Given the description of an element on the screen output the (x, y) to click on. 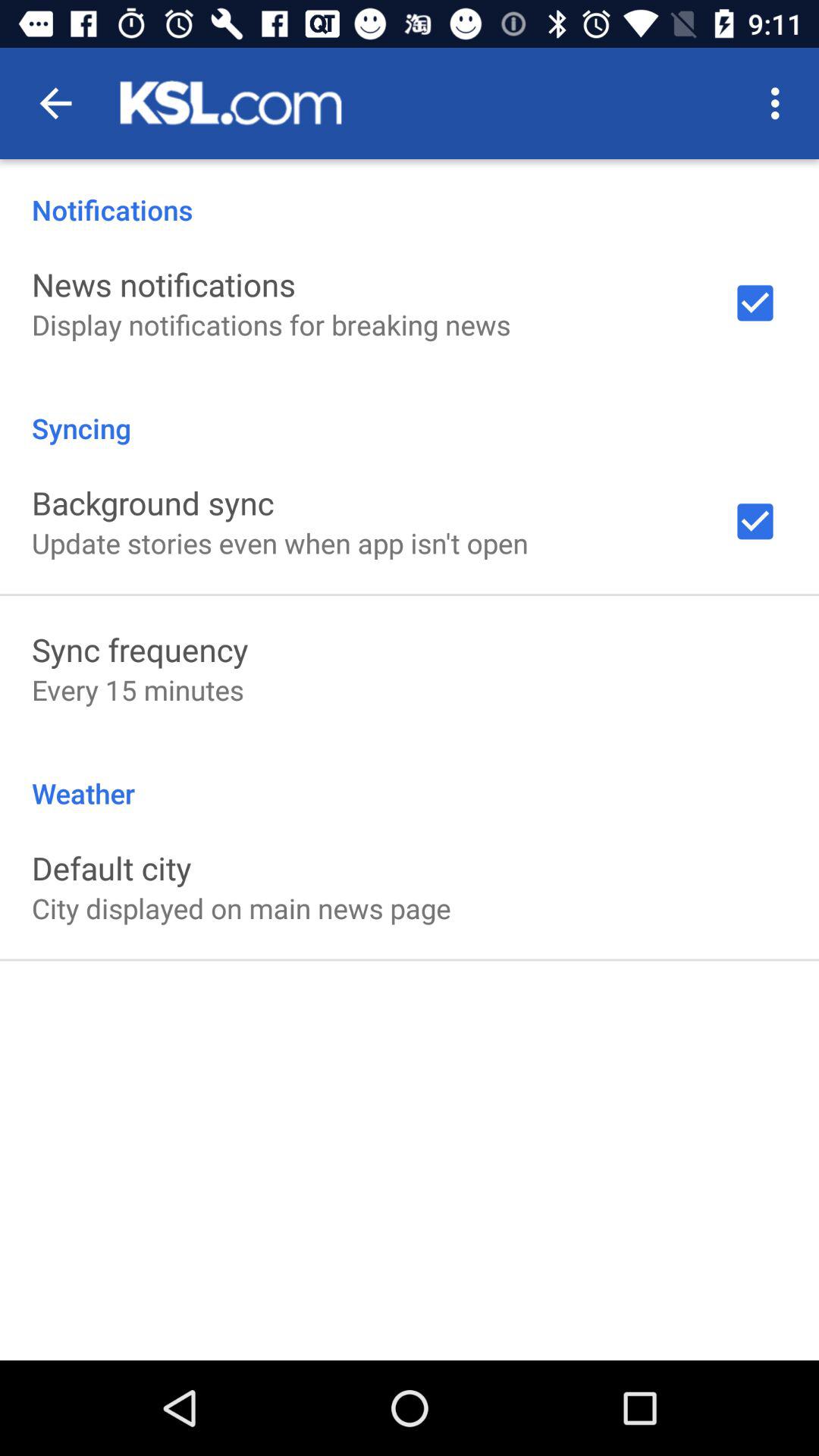
scroll to sync frequency icon (139, 649)
